Given the description of an element on the screen output the (x, y) to click on. 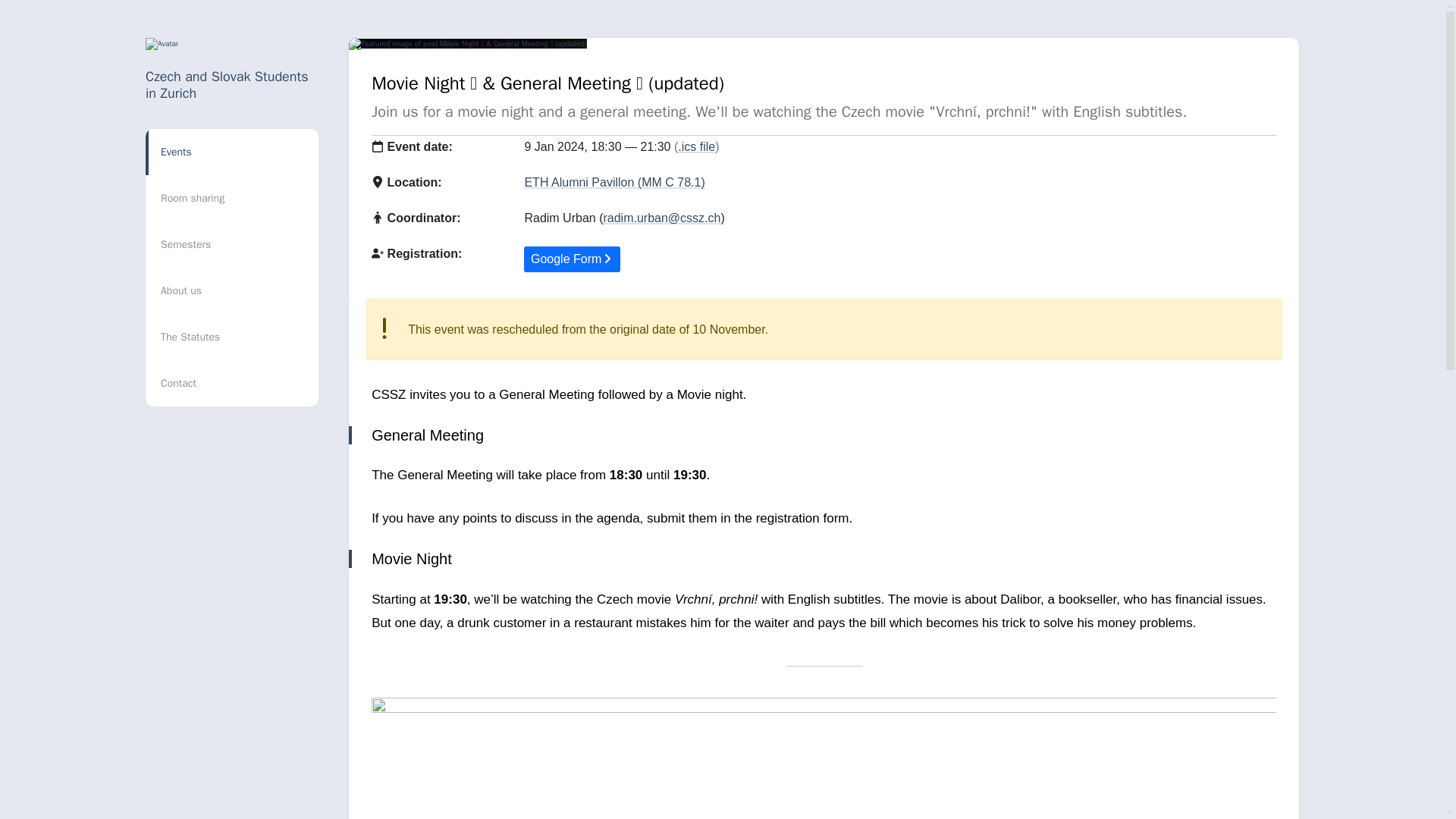
Contact (231, 383)
.ics file (696, 146)
Semesters (231, 244)
Czech and Slovak Students in Zurich (226, 84)
Events (231, 151)
Room sharing (231, 198)
Google Form (572, 258)
The Statutes (231, 336)
About us (231, 290)
